Given the description of an element on the screen output the (x, y) to click on. 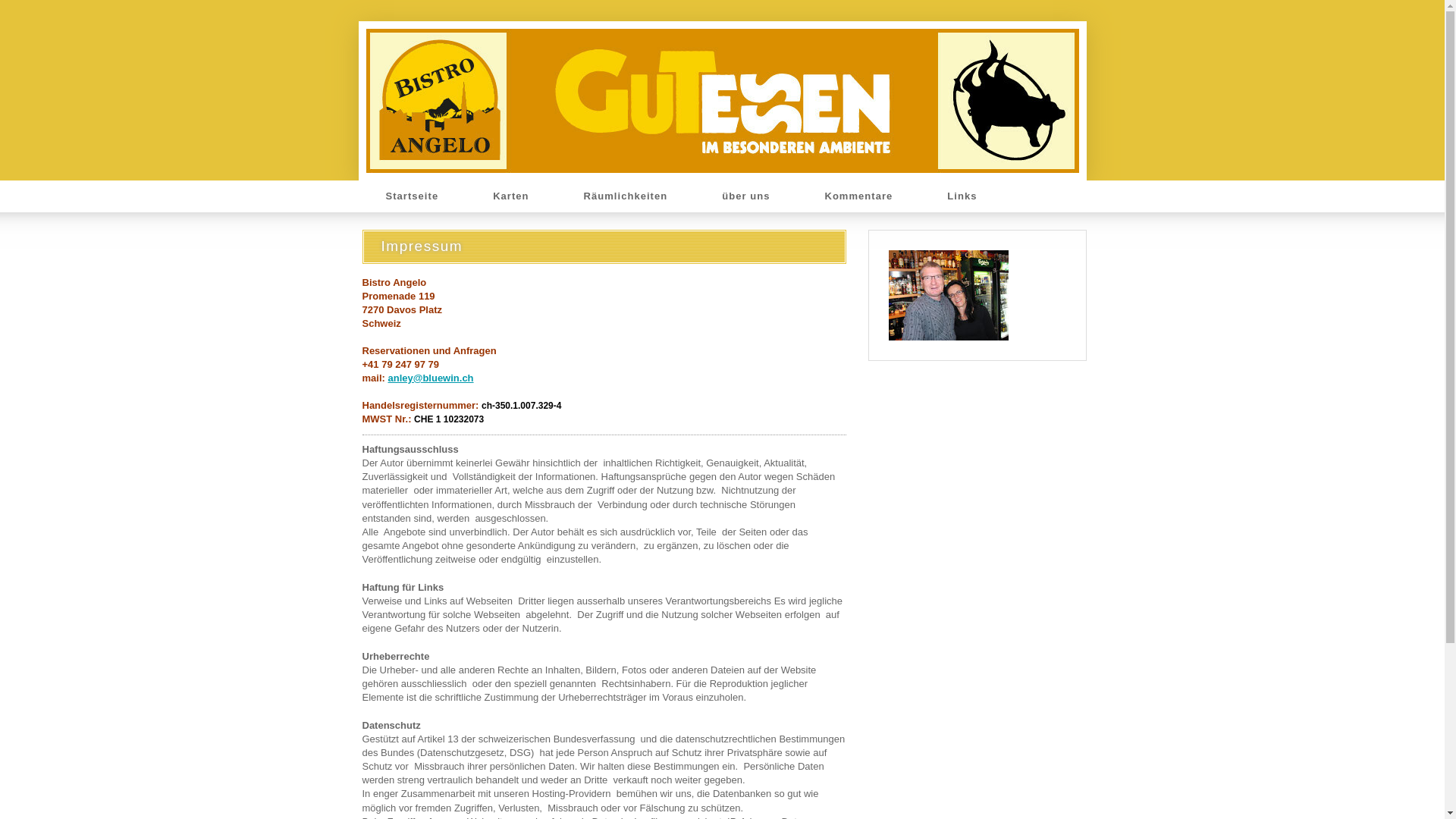
Karten Element type: text (510, 196)
Startseite Element type: text (411, 196)
anley@bluewin.ch Element type: text (430, 377)
Kommentare Element type: text (858, 196)
Links Element type: text (961, 196)
